Given the description of an element on the screen output the (x, y) to click on. 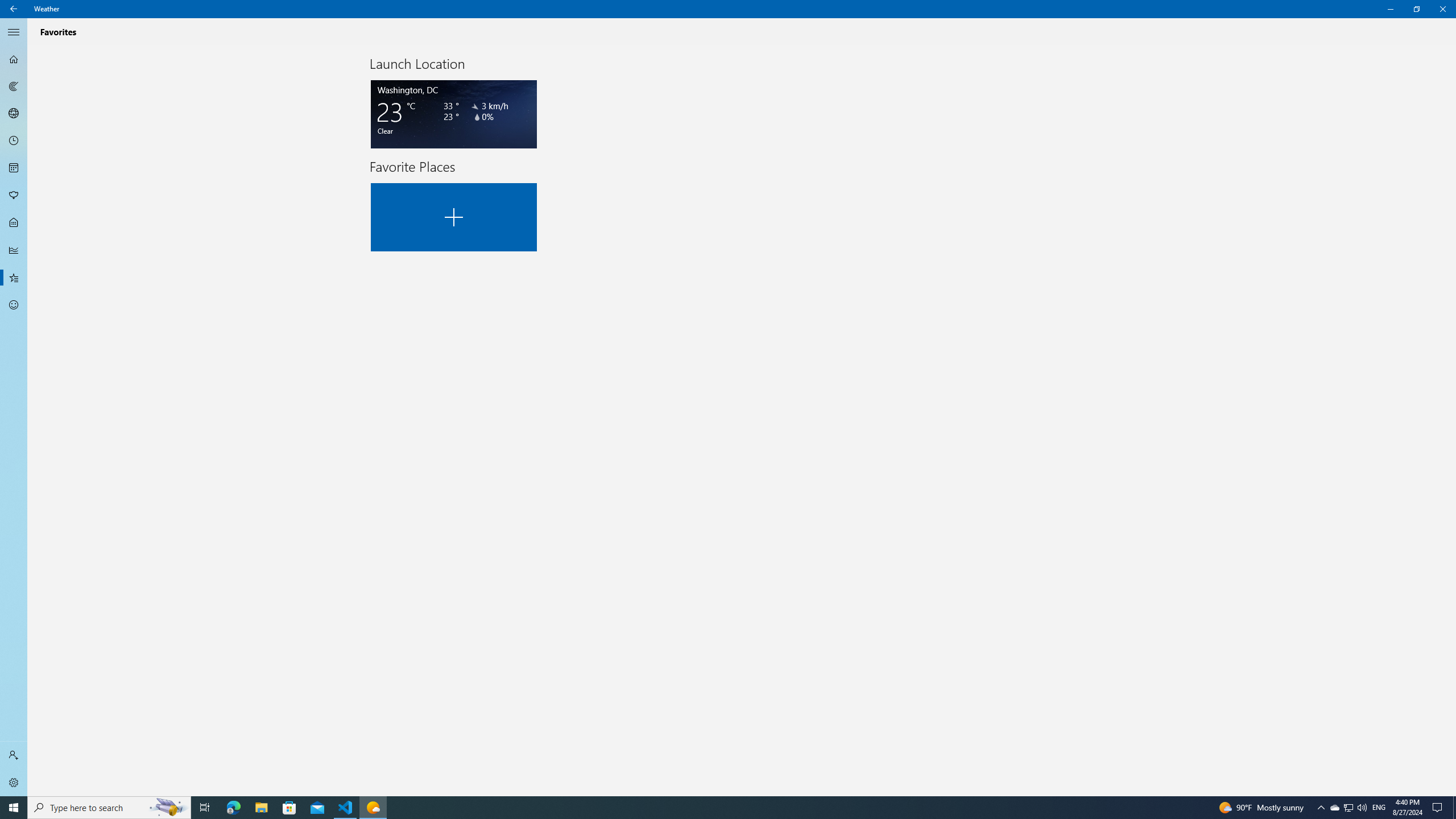
Vertical Small Decrease (1452, 49)
Minimize Weather (1390, 9)
Favorites - Not Selected (13, 277)
Task View (204, 807)
Monthly Forecast - Not Selected (13, 167)
Forecast - Not Selected (13, 58)
Hourly Forecast - Not Selected (13, 140)
Microsoft Store (289, 807)
Forecast - Not Selected (13, 58)
